Given the description of an element on the screen output the (x, y) to click on. 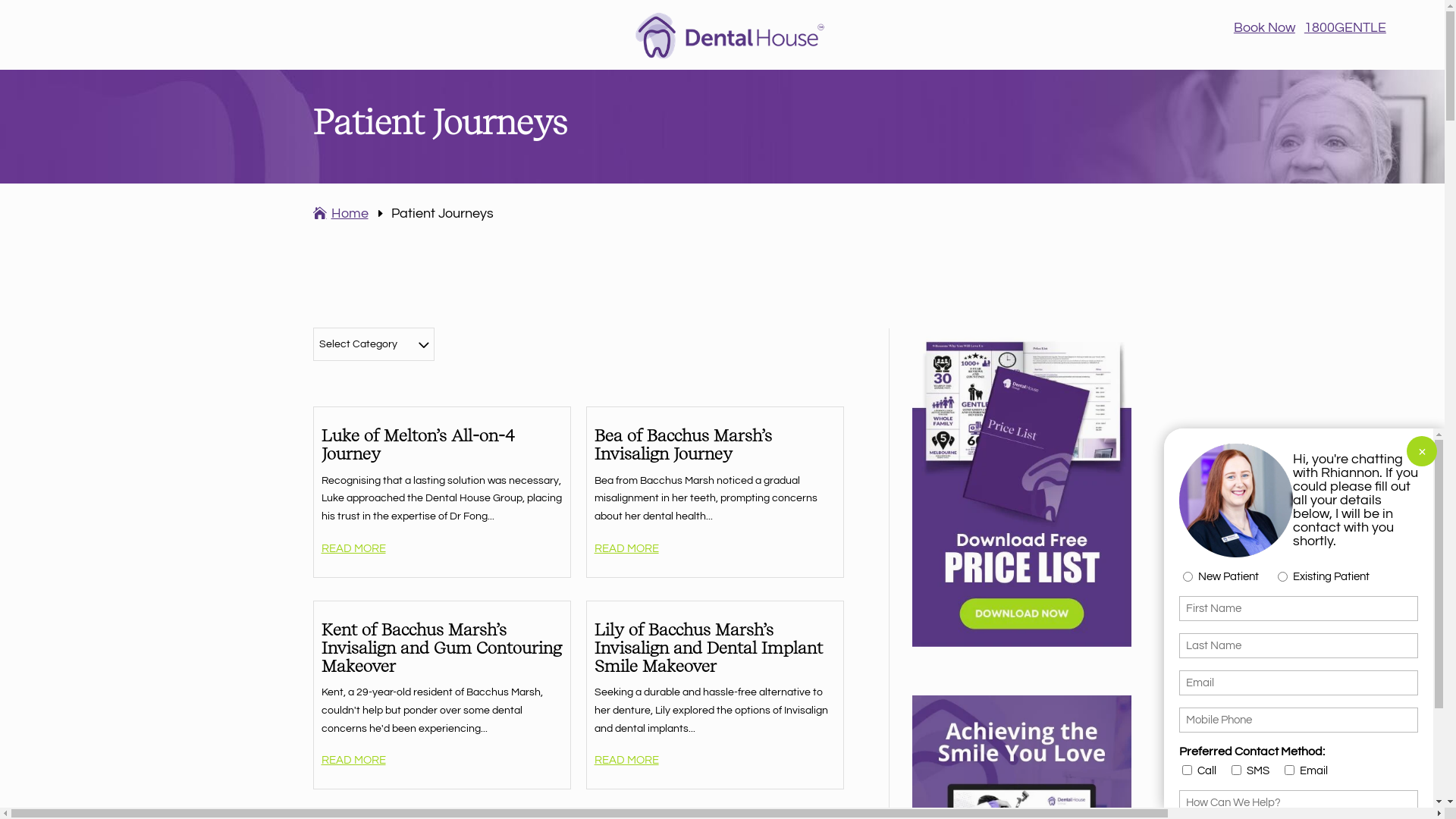
READ MORE Element type: text (632, 759)
Watch Now Element type: text (579, 649)
1800GENTLE Element type: text (1345, 27)
Book Now Element type: text (1264, 27)
Home Element type: text (342, 213)
READ MORE Element type: text (632, 548)
Get Price List Element type: text (581, 651)
READ MORE Element type: text (359, 548)
READ MORE Element type: text (359, 759)
Dental House In Melbourne Element type: hover (729, 34)
